Given the description of an element on the screen output the (x, y) to click on. 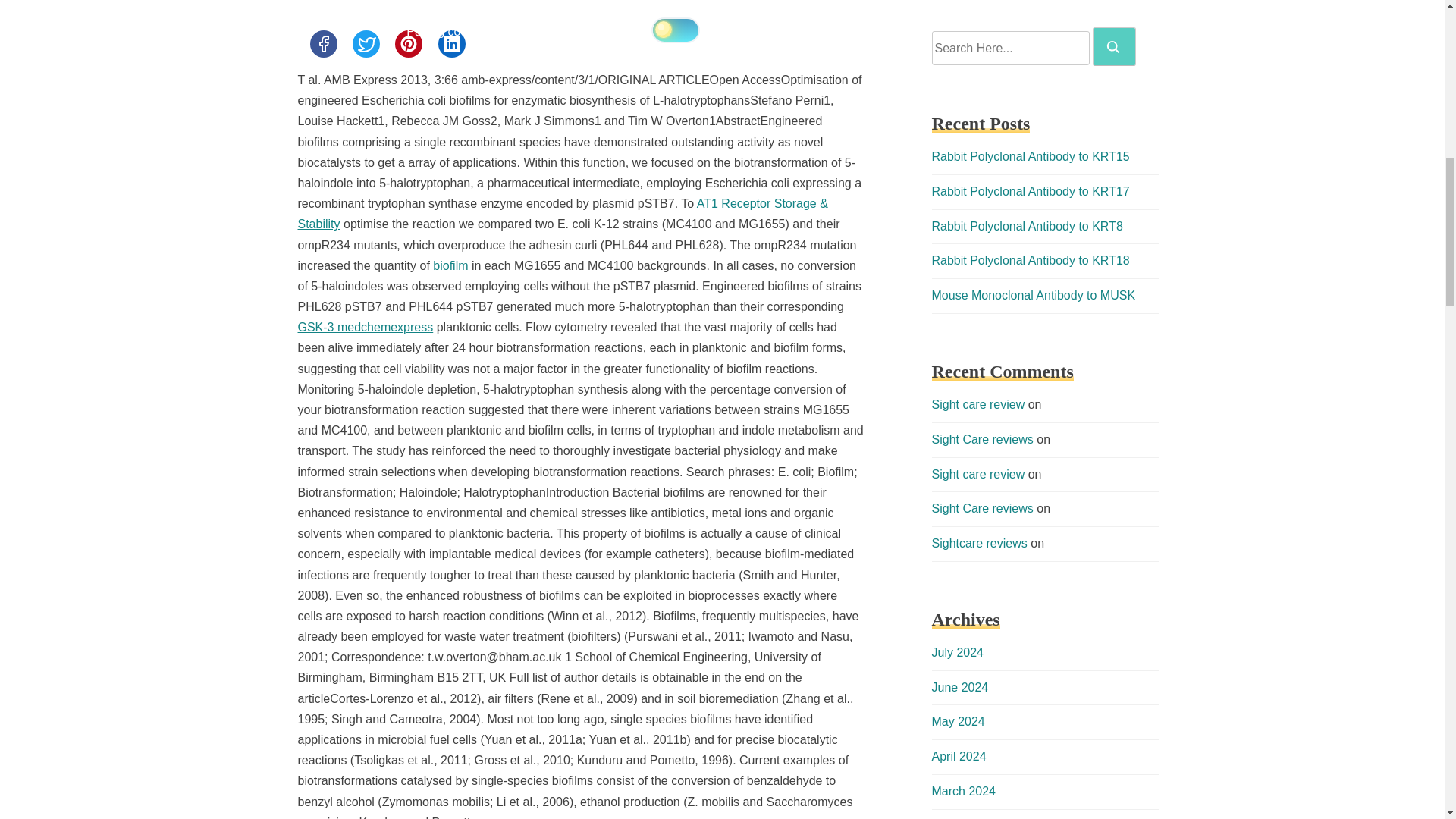
Search (1114, 46)
Share this post on Linkedin (451, 43)
Search (1113, 46)
biofilm (449, 265)
Share this post on Twitter (366, 43)
Share this post on Facebook (322, 43)
GSK-3 medchemexpress (364, 327)
Share this post on Pinterest (408, 43)
